Given the description of an element on the screen output the (x, y) to click on. 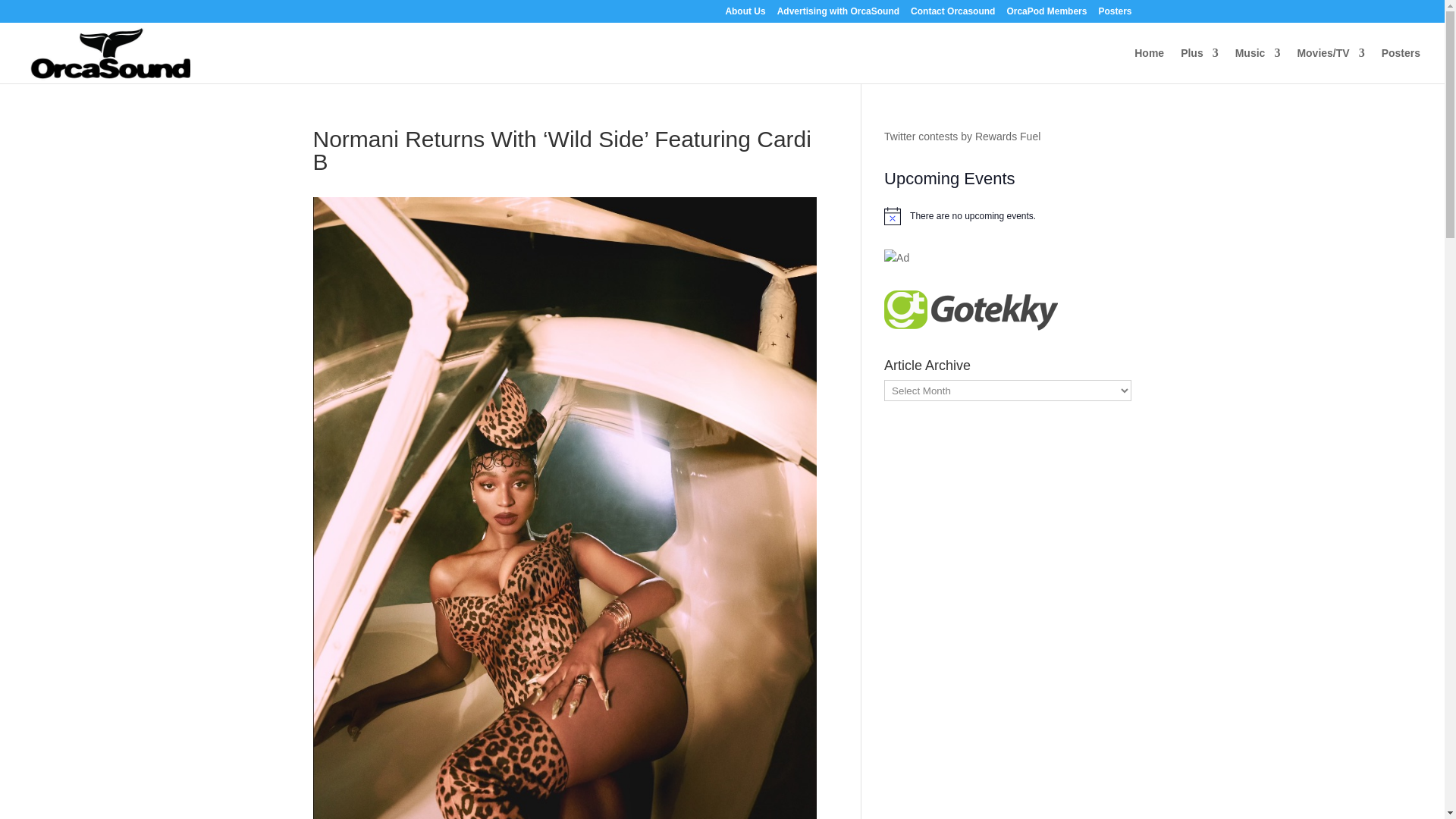
Posters (1114, 14)
Advertising with OrcaSound (838, 14)
OrcaPod Members (1046, 14)
Music (1257, 65)
Plus (1199, 65)
About Us (745, 14)
Contact Orcasound (952, 14)
